Given the description of an element on the screen output the (x, y) to click on. 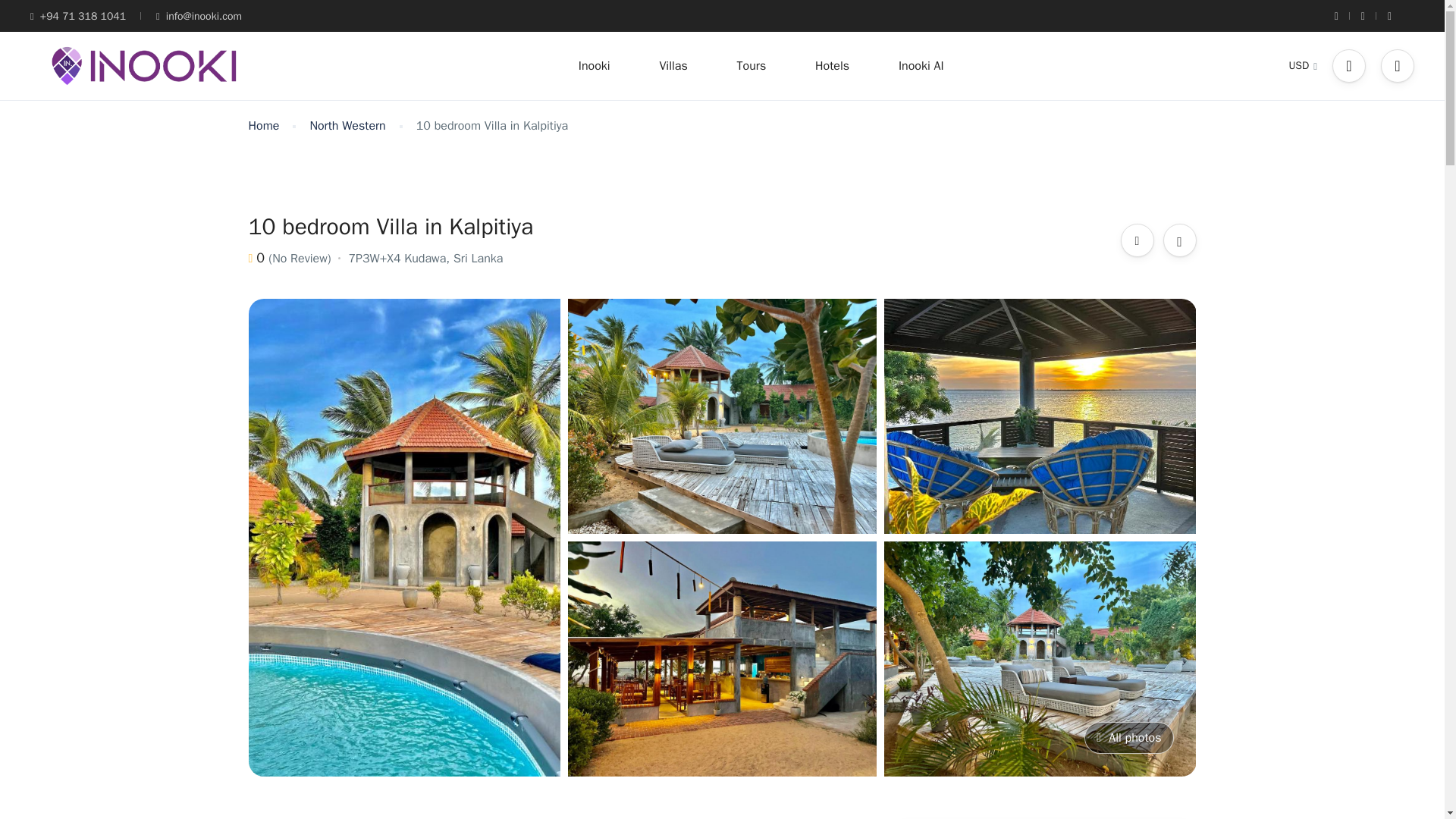
Hotels (832, 65)
Tours (751, 65)
North Western (346, 125)
Villas (673, 65)
Add to wishlist (1179, 239)
USD (1302, 65)
Inooki (594, 65)
Inooki AI (921, 65)
Home (263, 125)
